Given the description of an element on the screen output the (x, y) to click on. 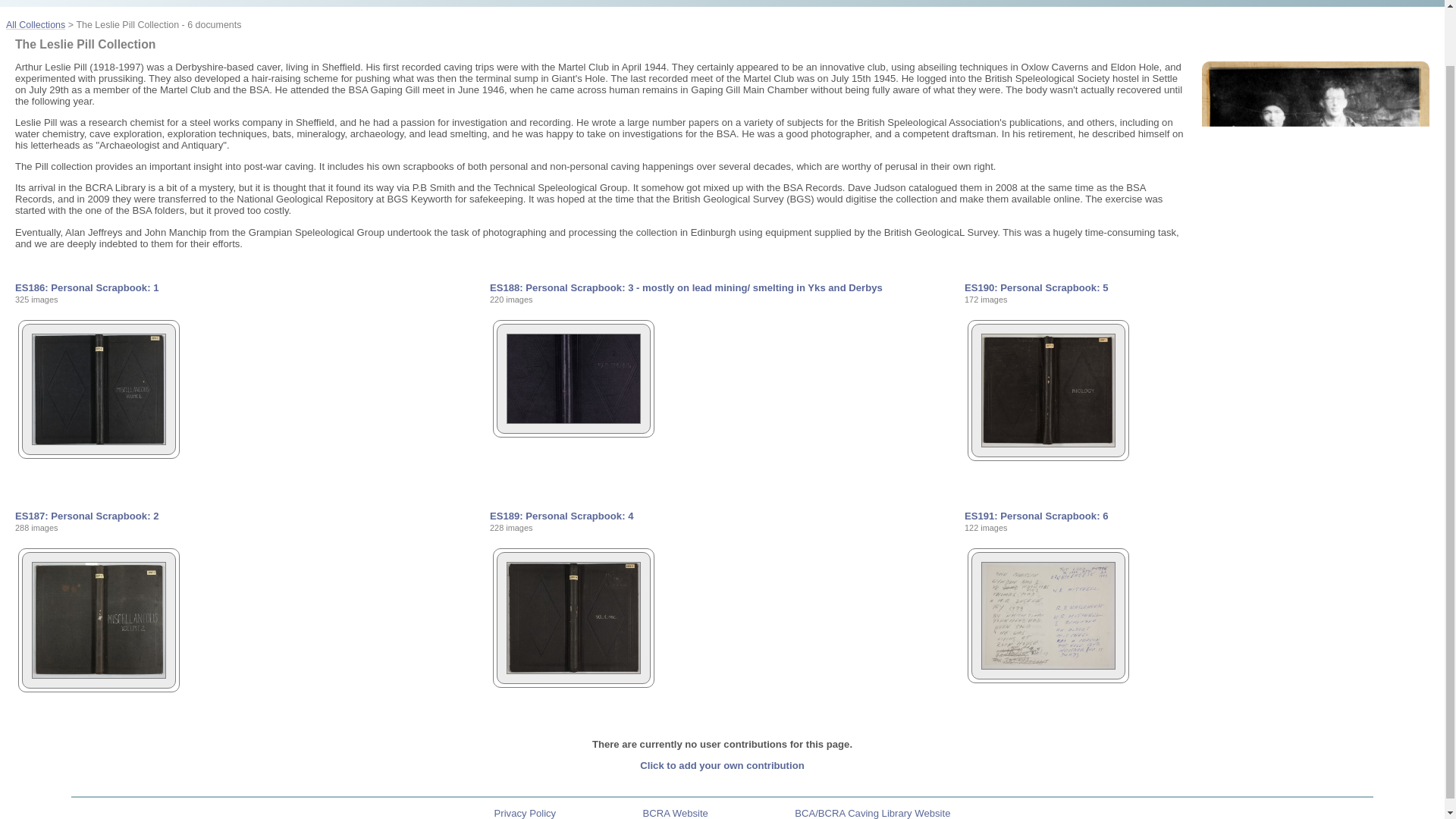
Image link to 'ES191: Personal Scrapbook: 6' volume (1043, 665)
ES191: Personal Scrapbook: 6 (1035, 515)
ES189: Personal Scrapbook: 4 (561, 515)
Image link to 'ES187: Personal Scrapbook: 2' volume (94, 674)
Image link to 'ES186: Personal Scrapbook: 1' volume (94, 441)
Link to 'ES191: Personal Scrapbook: 6' volume (1035, 515)
Link to 'ES186: Personal Scrapbook: 1' volume (86, 287)
ES187: Personal Scrapbook: 2 (86, 515)
ES190: Personal Scrapbook: 5 (1035, 287)
Image link to 'ES189: Personal Scrapbook: 4' volume (568, 670)
All Collections (35, 24)
Link to 'ES190: Personal Scrapbook: 5' volume (1035, 287)
ES186: Personal Scrapbook: 1 (86, 287)
Link to 'ES187: Personal Scrapbook: 2' volume (86, 515)
